Given the description of an element on the screen output the (x, y) to click on. 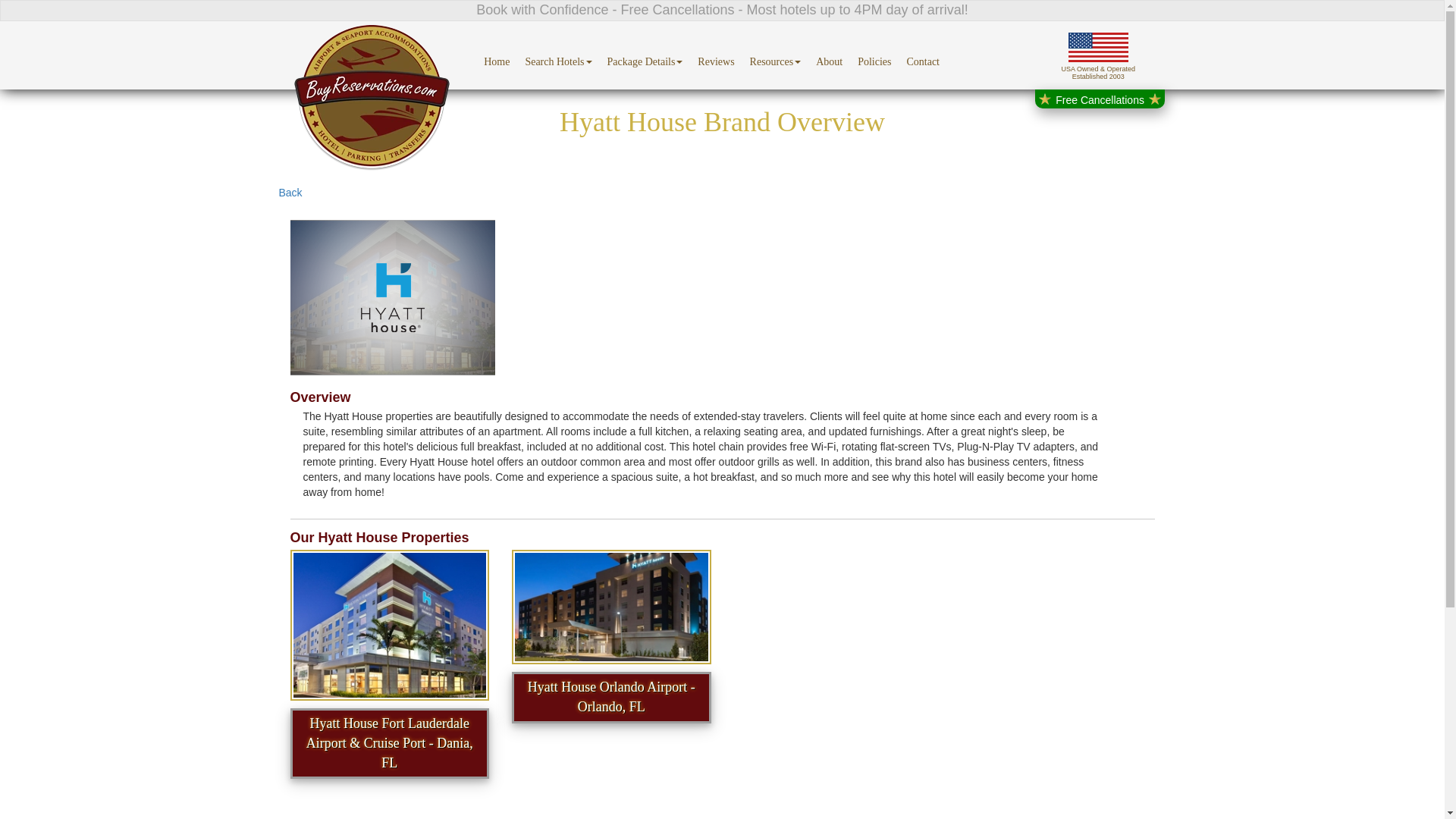
Search Hotels (557, 55)
Package Details (644, 55)
Resources (775, 55)
